Given the description of an element on the screen output the (x, y) to click on. 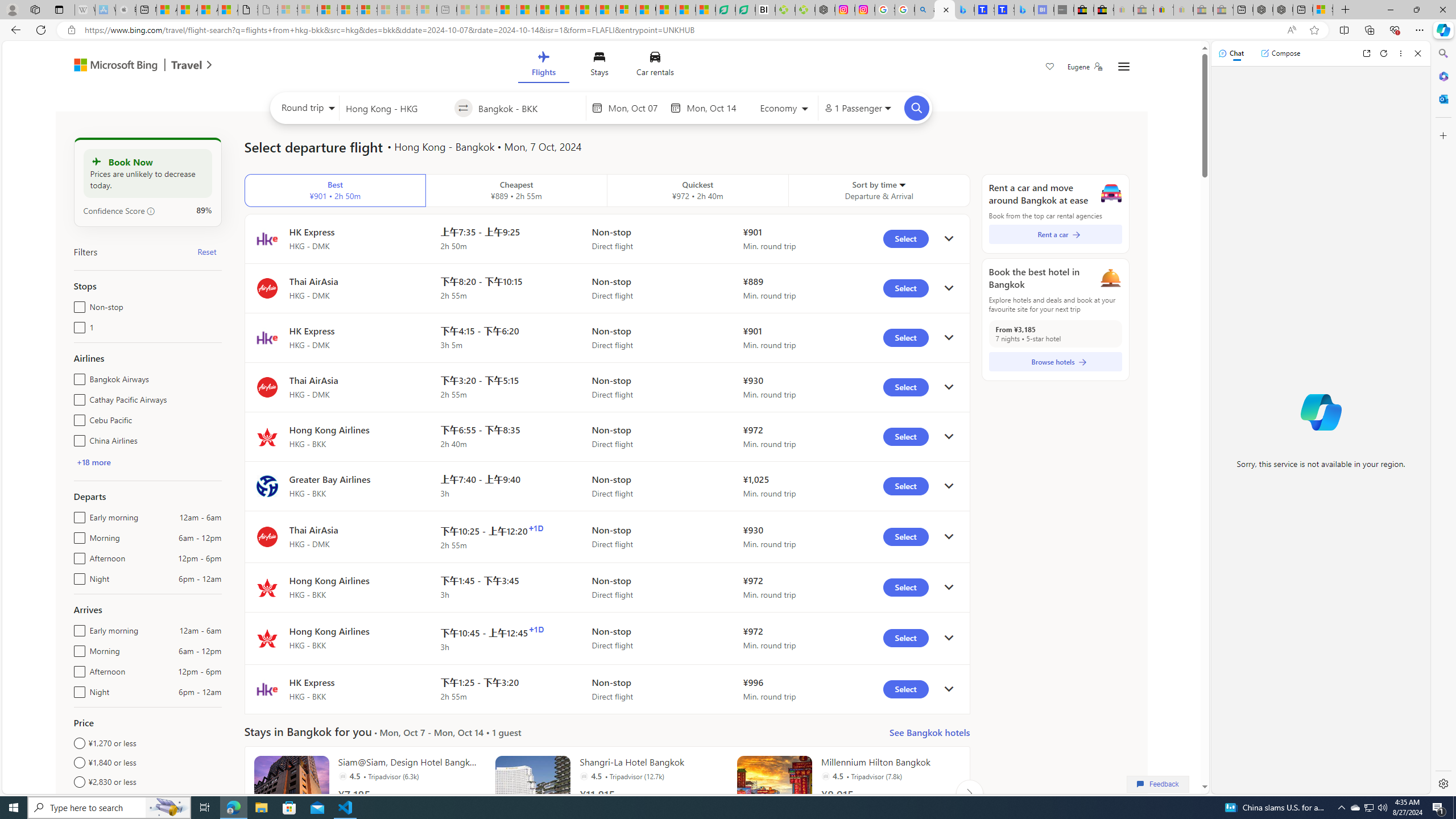
Save (1049, 67)
Swap source and destination (463, 108)
Night6pm - 12am (76, 689)
Select trip type (305, 110)
Cathay Pacific Airways (76, 397)
